Given the description of an element on the screen output the (x, y) to click on. 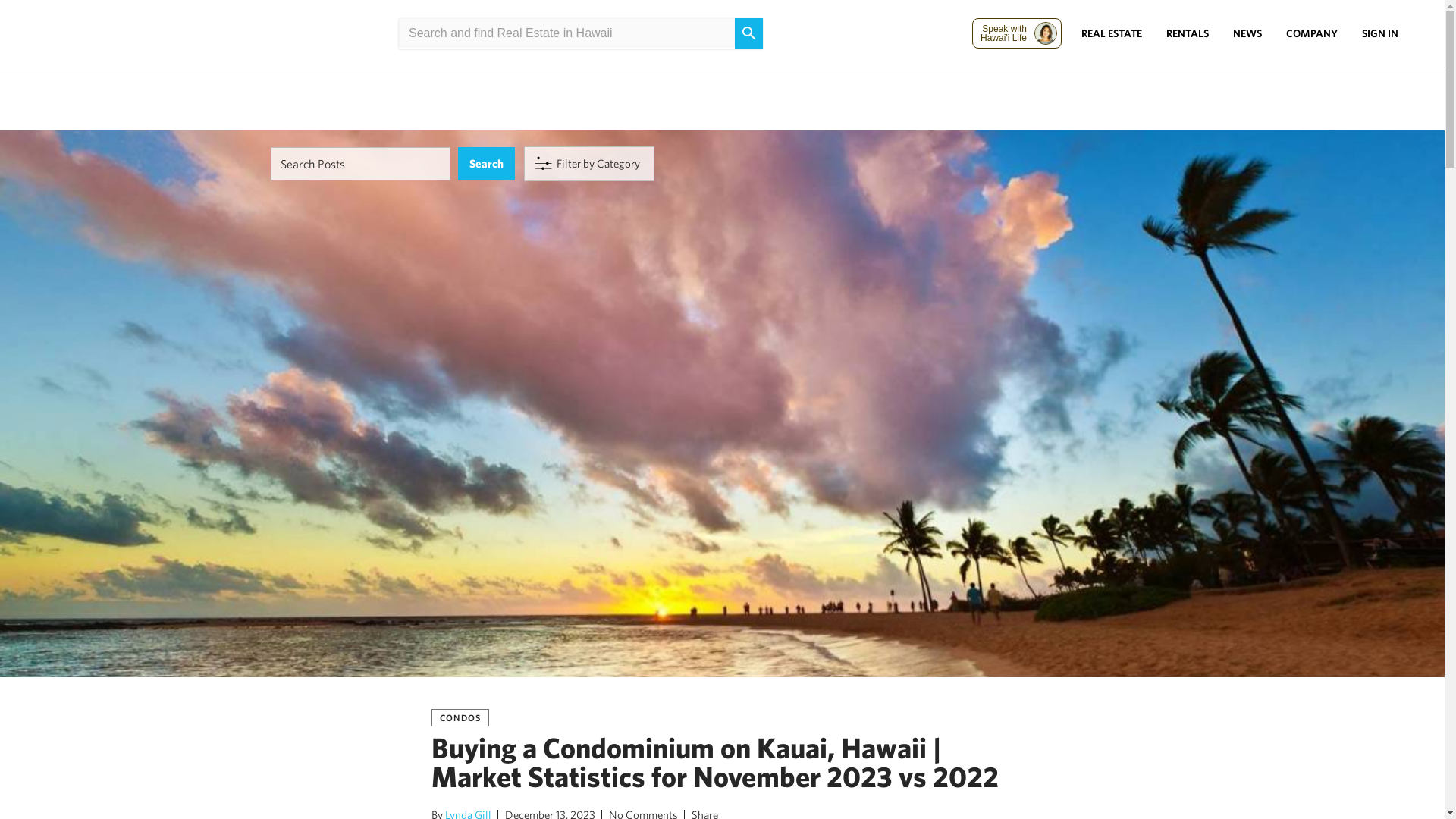
NEWS (1247, 33)
COMPANY (1311, 33)
Search (486, 163)
REAL ESTATE (1111, 33)
SIGN IN (1379, 33)
Filter by Category (588, 163)
Search (486, 163)
RENTALS (1187, 33)
Search (486, 163)
